Given the description of an element on the screen output the (x, y) to click on. 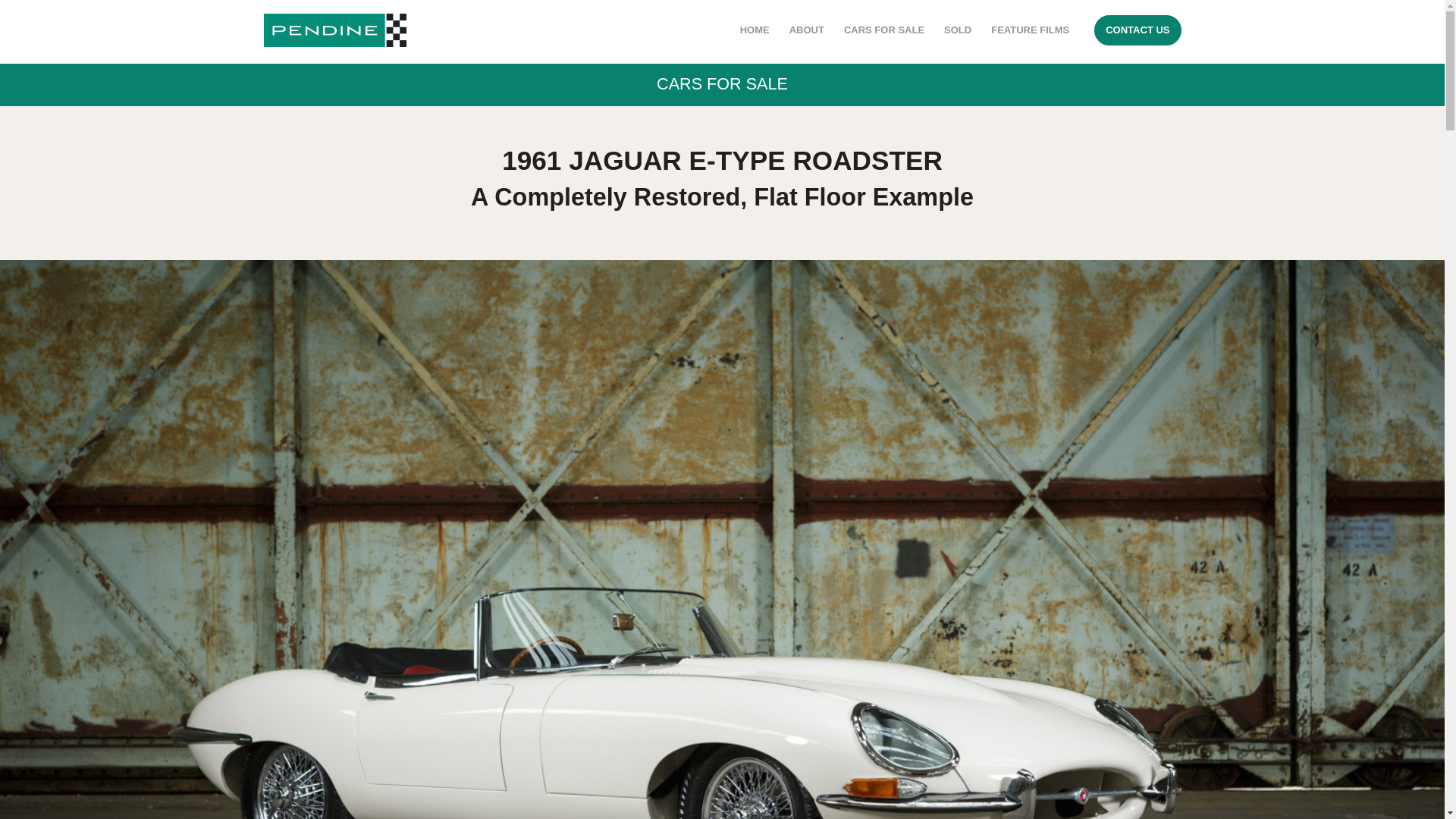
Permanent Link: Cars for Sale (721, 83)
FEATURE FILMS (1029, 29)
CARS FOR SALE (721, 83)
ABOUT (806, 29)
HOME (754, 29)
SOLD (957, 29)
CONTACT US (1137, 30)
CARS FOR SALE (884, 29)
